Given the description of an element on the screen output the (x, y) to click on. 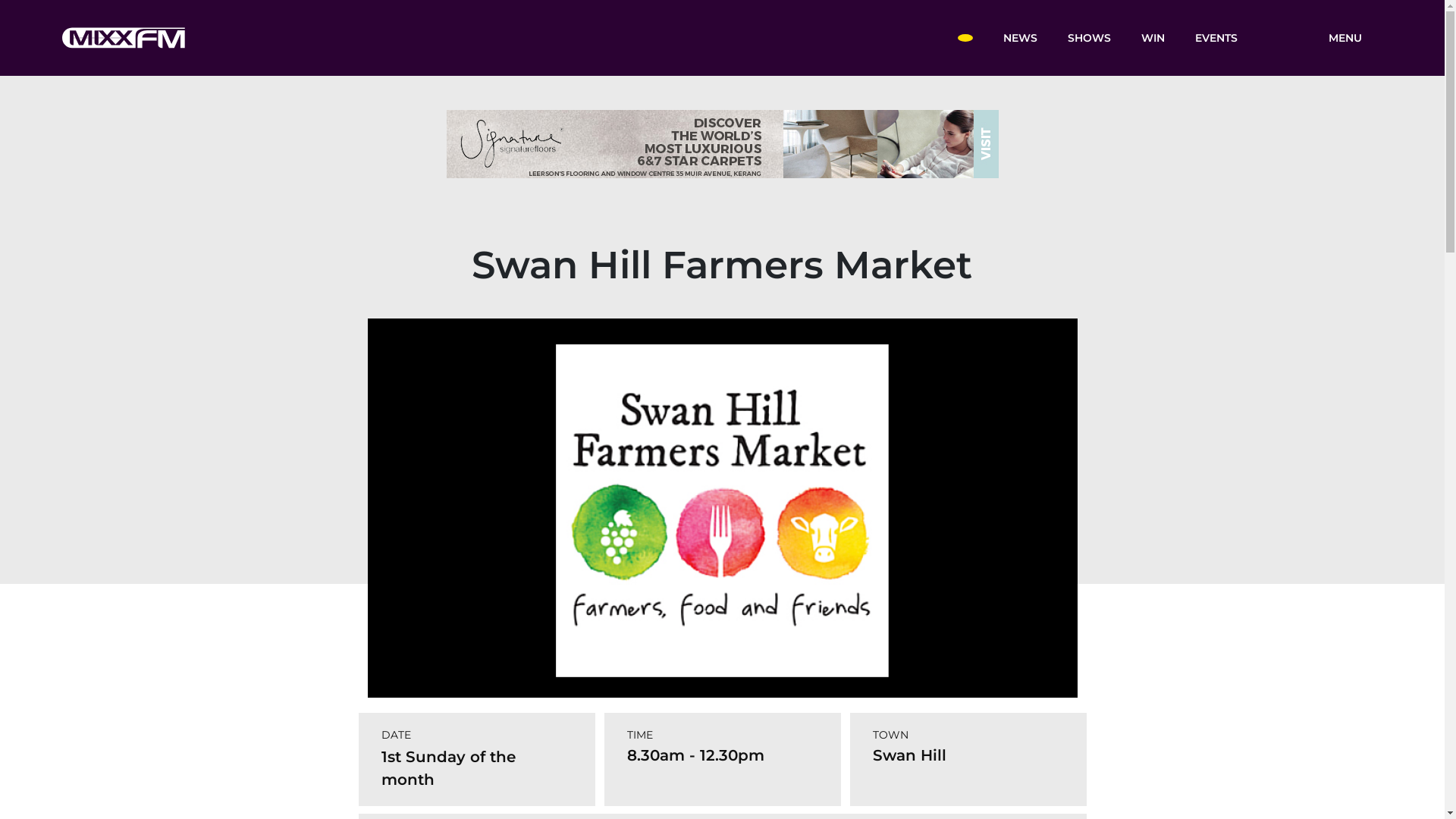
EVENTS Element type: text (1215, 36)
NEWS Element type: text (1019, 36)
WIN Element type: text (1152, 36)
SHOWS Element type: text (1089, 36)
